Given the description of an element on the screen output the (x, y) to click on. 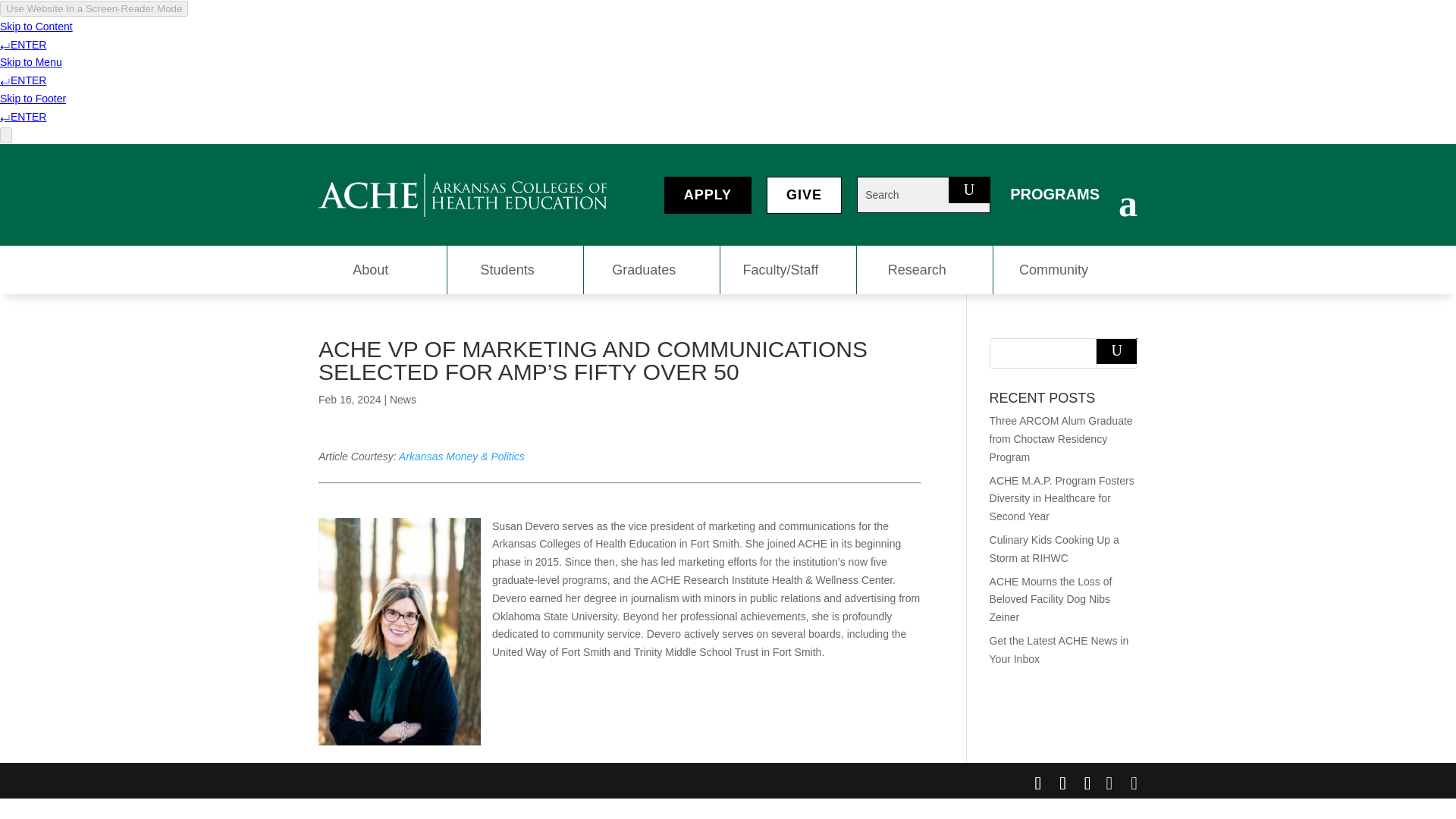
PROGRAMS (1071, 194)
Search (968, 194)
Search (968, 194)
APPLY (707, 194)
GIVE (804, 194)
Search (968, 194)
Linked In (1134, 782)
Search (1116, 353)
YouTube (1109, 782)
